Given the description of an element on the screen output the (x, y) to click on. 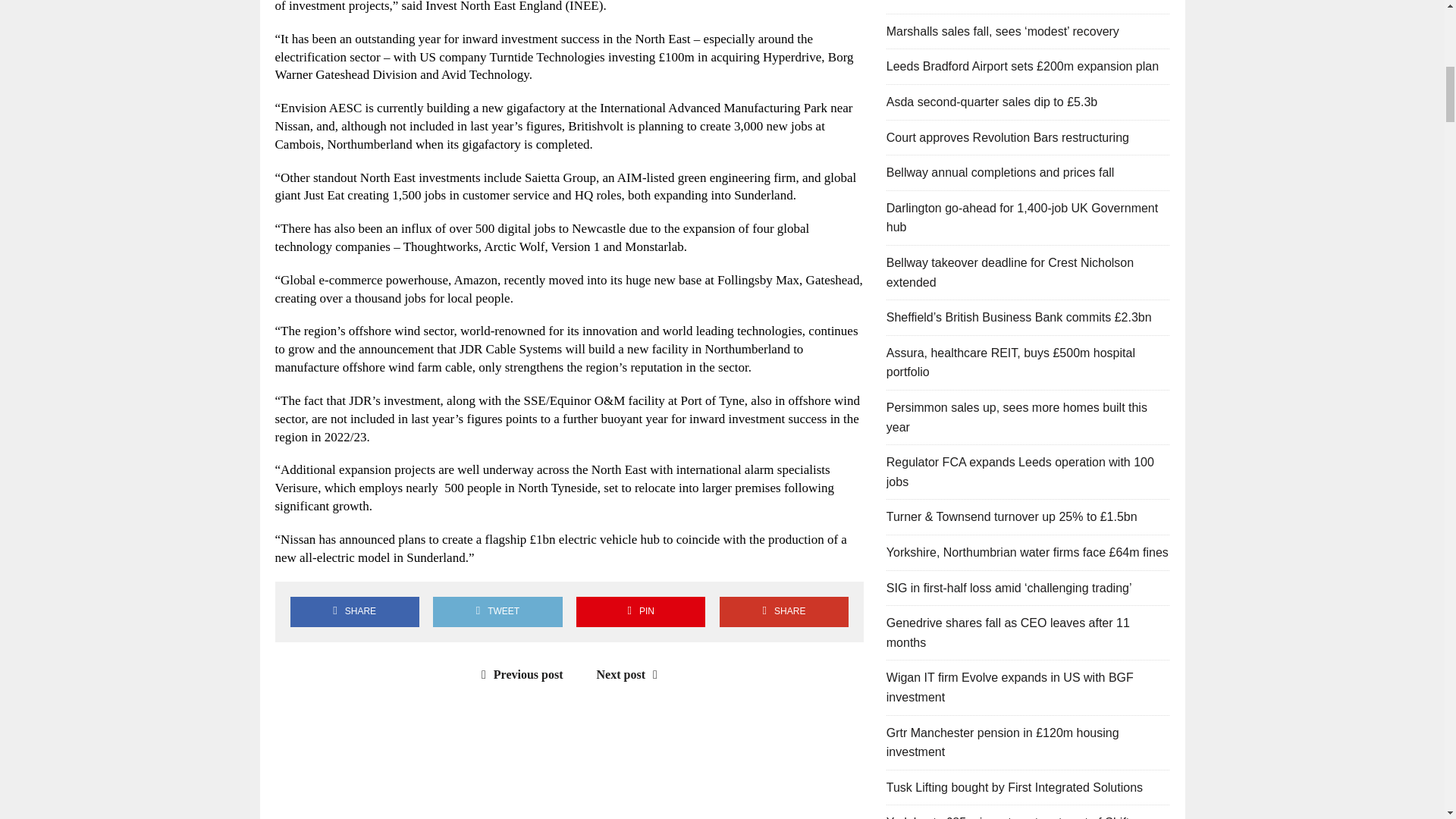
Tweet This Post (497, 611)
Previous post (518, 674)
SHARE (354, 611)
TWEET (497, 611)
PIN (640, 611)
Next post (630, 674)
SHARE (783, 611)
Pin This Post (640, 611)
Share on Facebook (354, 611)
